Given the description of an element on the screen output the (x, y) to click on. 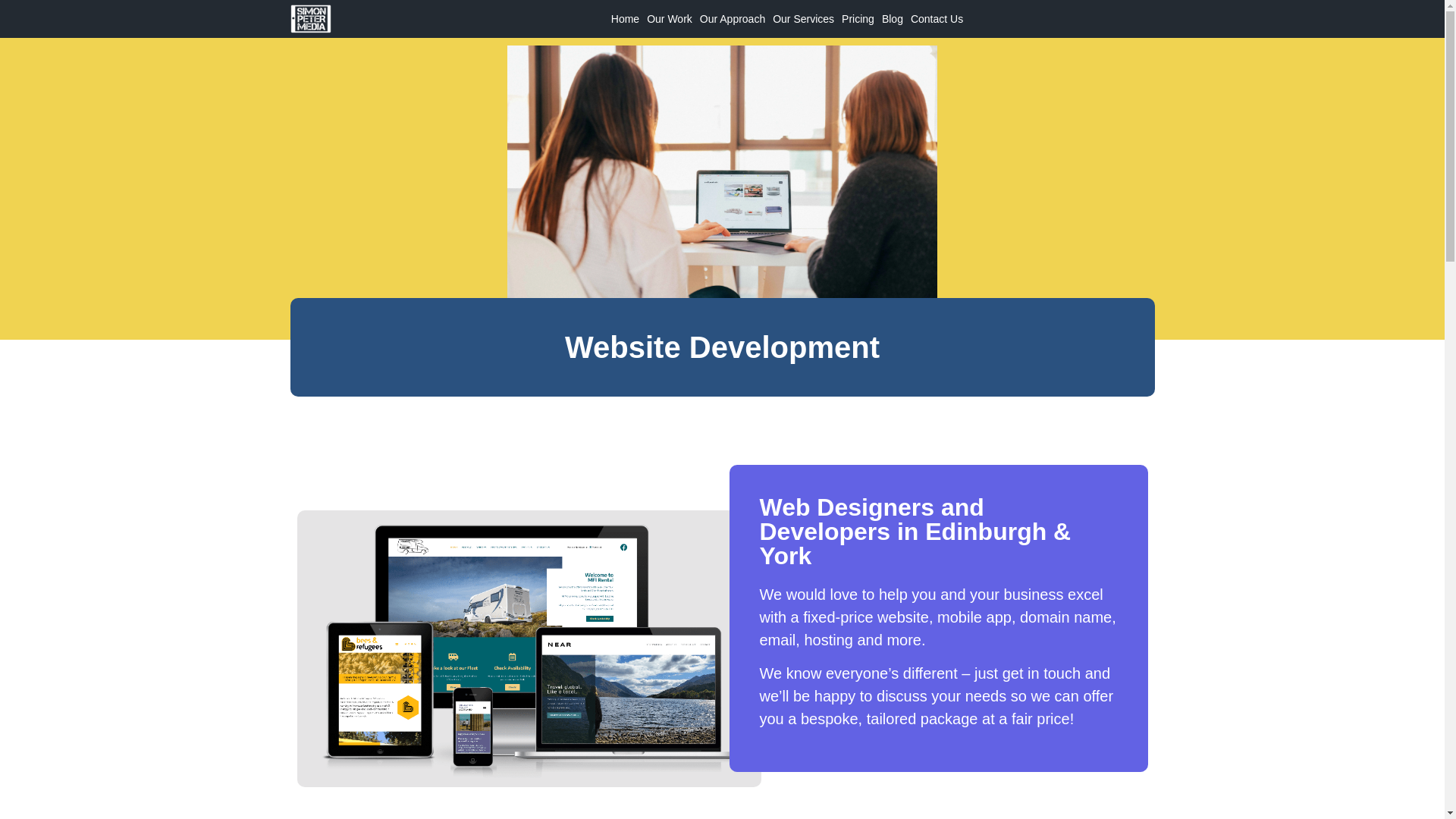
Our Services (803, 19)
Home (625, 19)
Our Work (669, 19)
Pricing (857, 19)
Contact Us (936, 19)
Our Approach (731, 19)
Blog (892, 19)
